Given the description of an element on the screen output the (x, y) to click on. 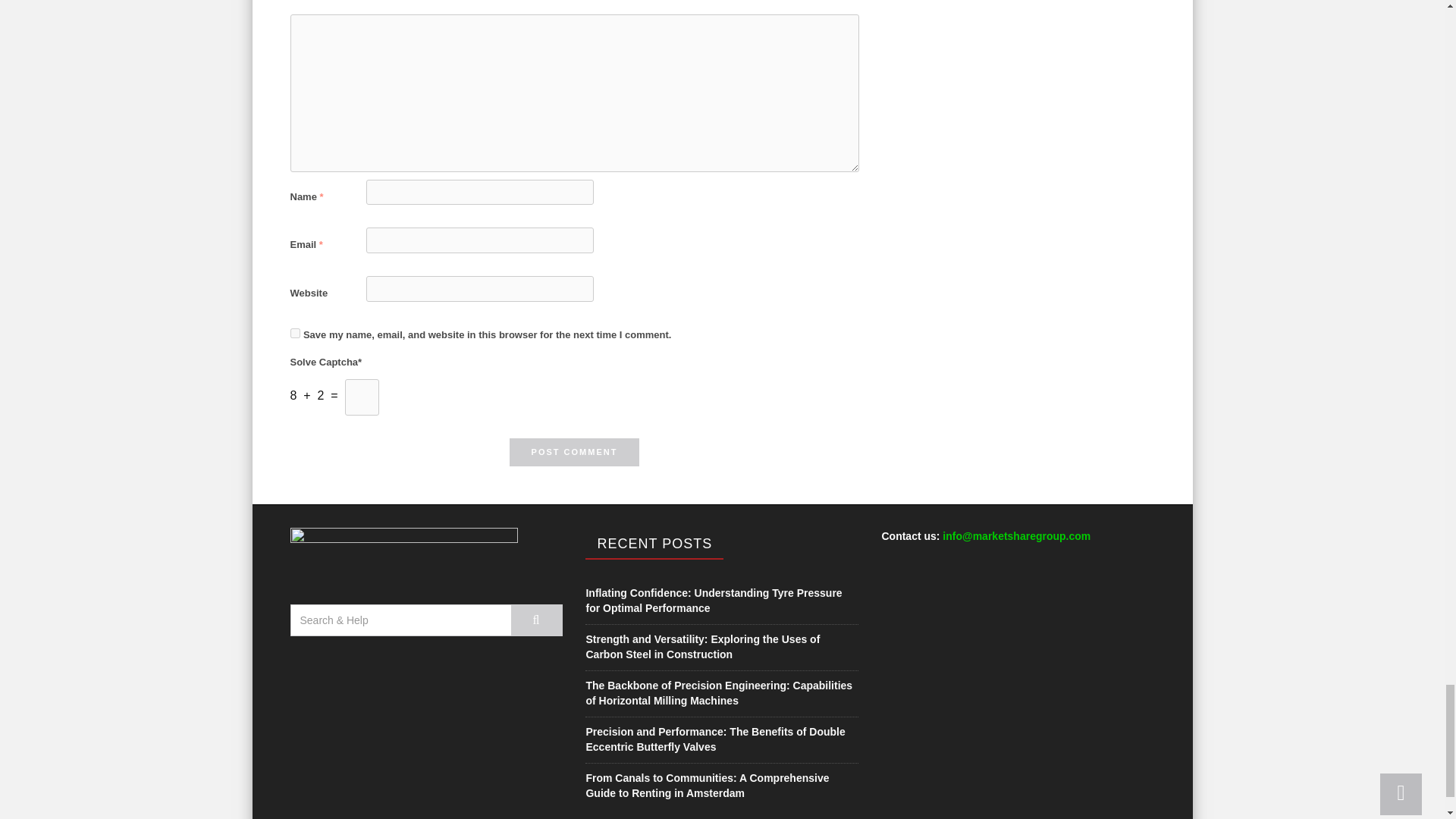
Search for: (400, 620)
Post Comment (574, 452)
Post Comment (574, 452)
yes (294, 333)
